Given the description of an element on the screen output the (x, y) to click on. 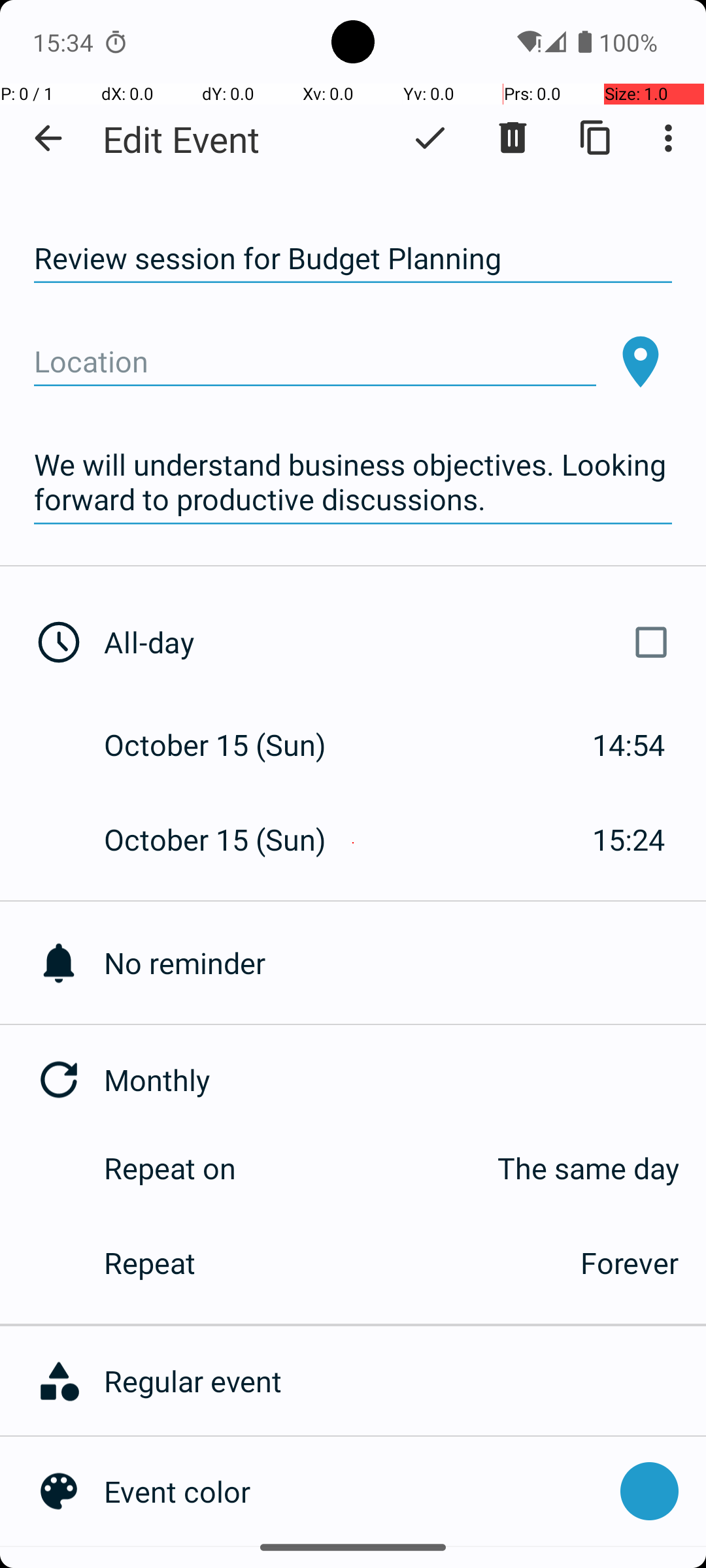
We will understand business objectives. Looking forward to productive discussions. Element type: android.widget.EditText (352, 482)
14:54 Element type: android.widget.TextView (628, 744)
15:24 Element type: android.widget.TextView (628, 838)
Monthly Element type: android.widget.TextView (404, 1079)
Repeat on Element type: android.widget.TextView (169, 1167)
The same day Element type: android.widget.TextView (470, 1167)
Repeat Element type: android.widget.TextView (328, 1262)
Forever Element type: android.widget.TextView (629, 1262)
